Given the description of an element on the screen output the (x, y) to click on. 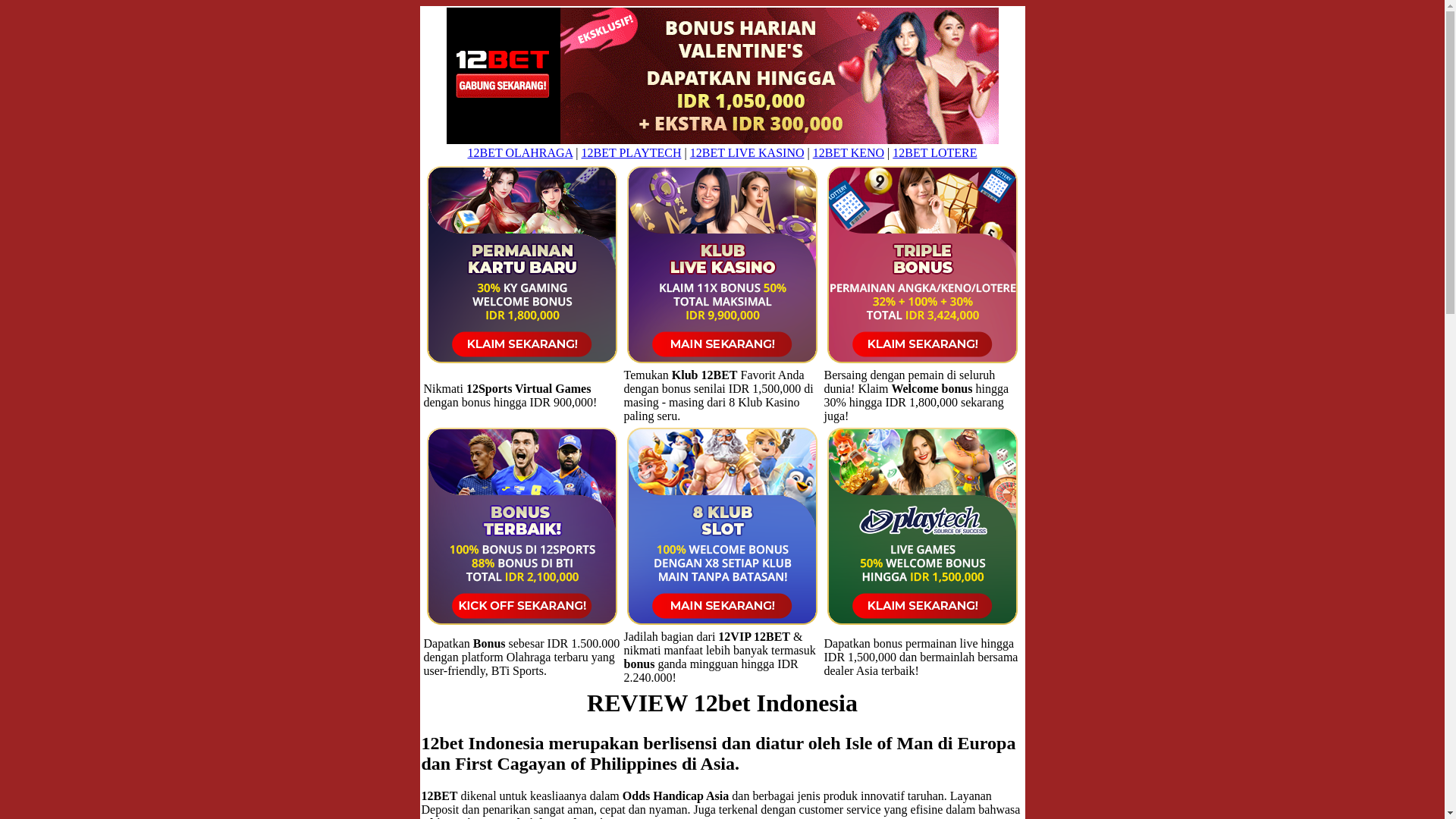
12BET KENO Element type: text (848, 152)
12BET PLAYTECH Element type: text (630, 152)
12BET LIVE KASINO Element type: text (747, 152)
12BET OLAHRAGA Element type: text (519, 152)
12BET LOTERE Element type: text (934, 152)
